Given the description of an element on the screen output the (x, y) to click on. 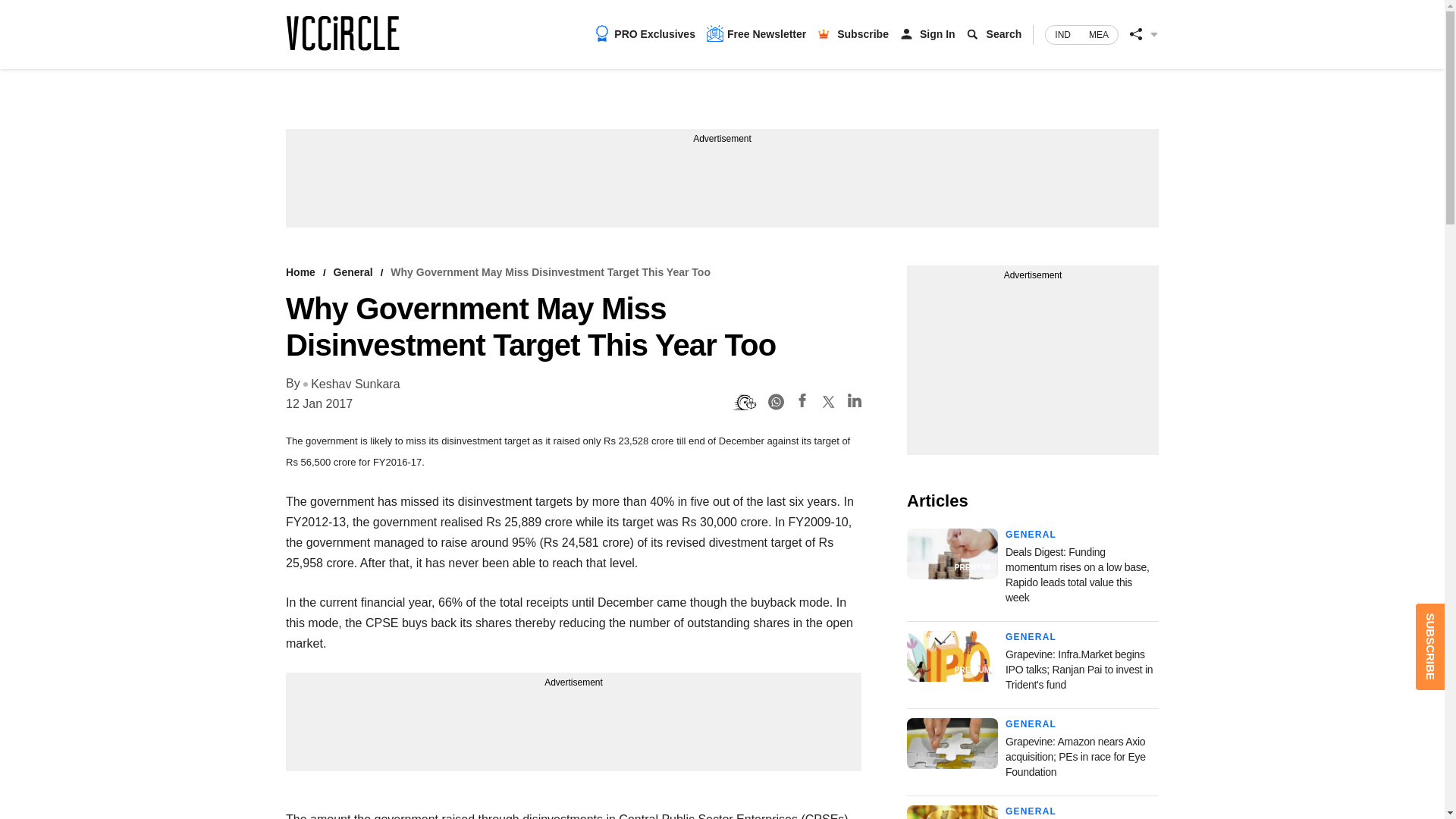
Sign In (937, 33)
GENERAL (1031, 810)
GENERAL (1031, 534)
IND (1062, 34)
Home (300, 272)
GENERAL (1031, 724)
Search (1004, 33)
General (352, 272)
Stay Home. Read Quality News (341, 32)
GENERAL (1031, 636)
Free Newsletter (756, 33)
Subscribe (862, 33)
